Given the description of an element on the screen output the (x, y) to click on. 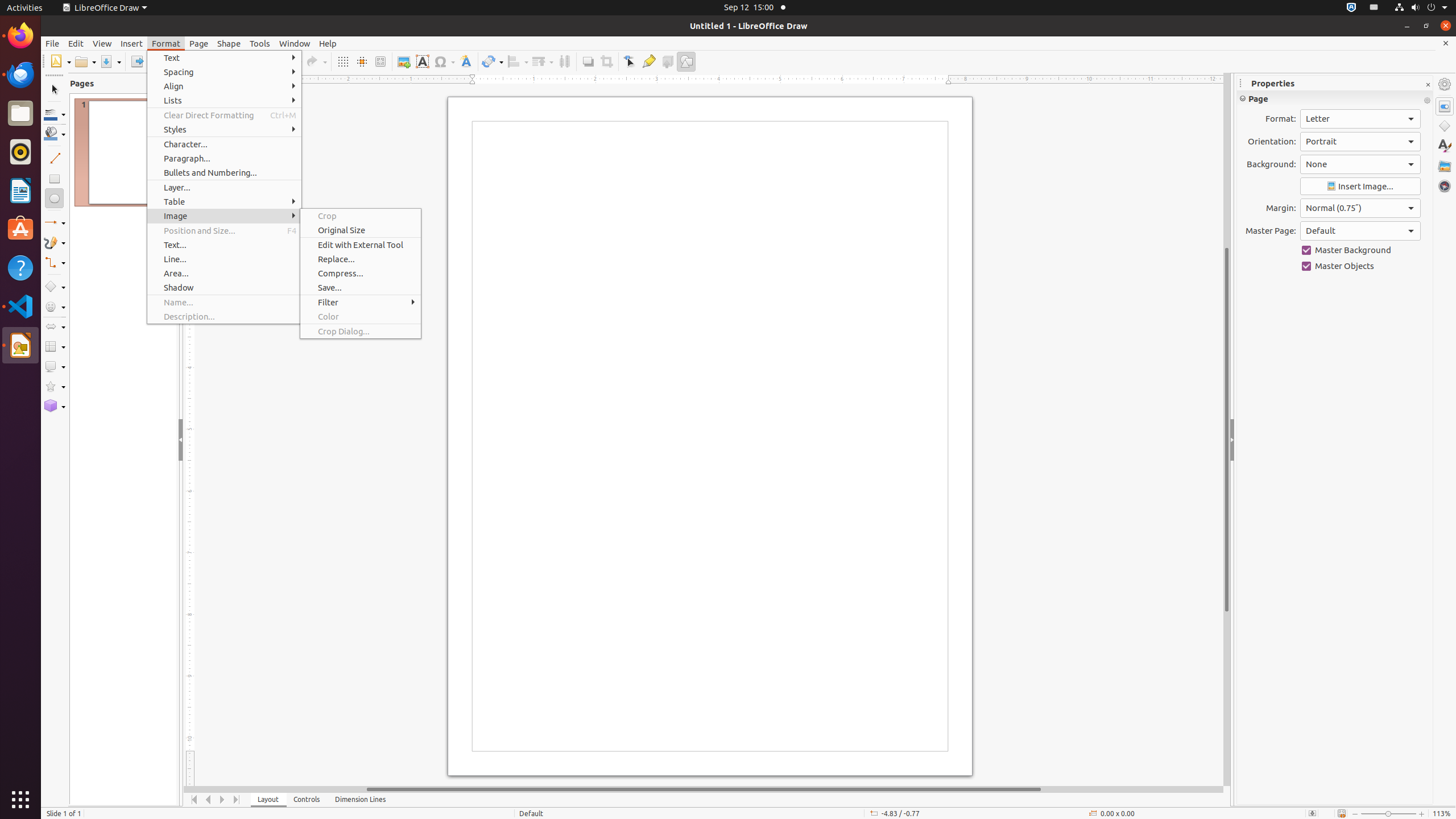
Distribution Element type: push-button (564, 61)
Thunderbird Mail Element type: push-button (20, 74)
